Given the description of an element on the screen output the (x, y) to click on. 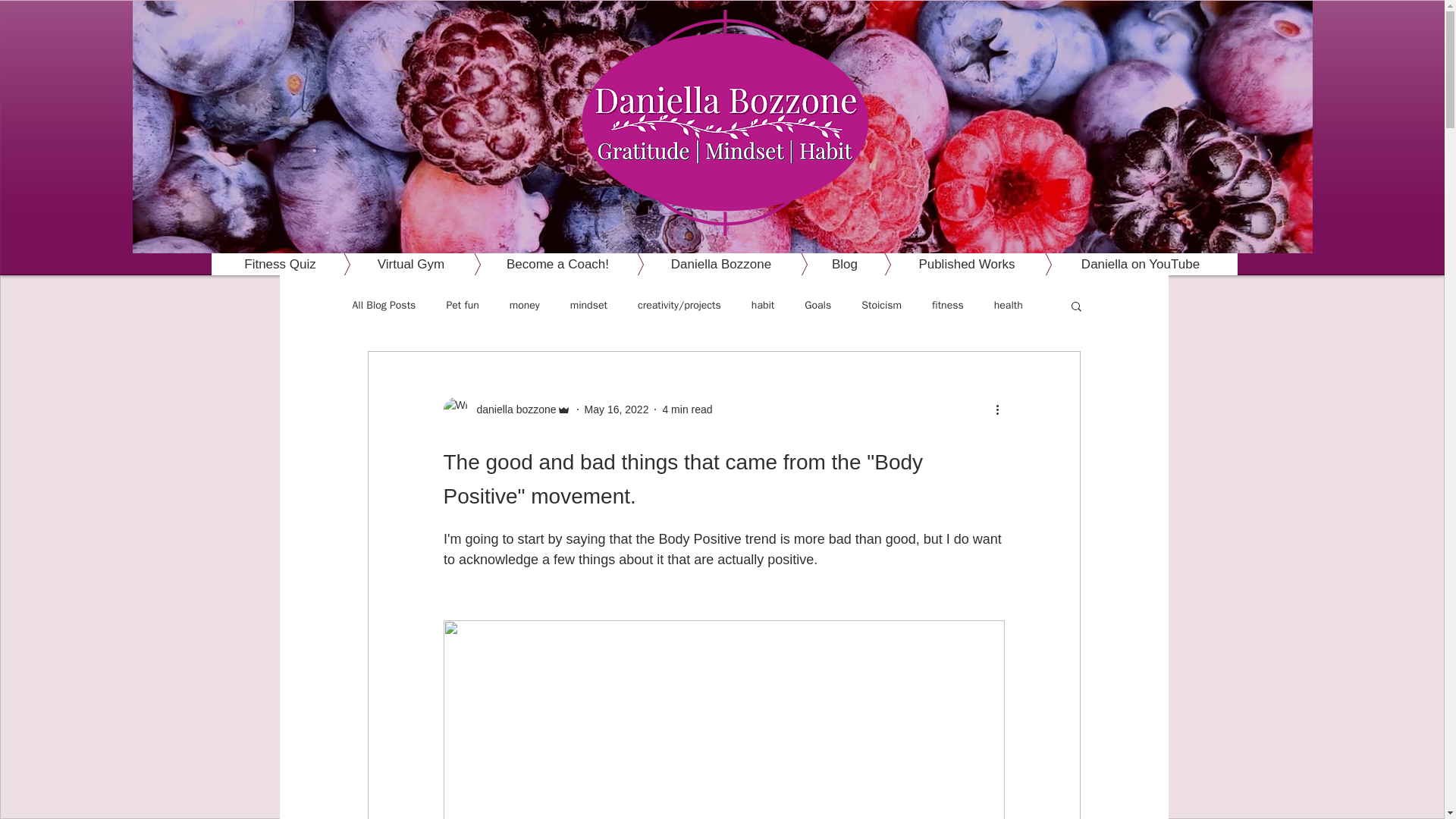
money (524, 305)
Daniella on YouTube (1116, 264)
Become a Coach! (535, 264)
4 min read (686, 409)
daniella bozzone (506, 409)
habit (762, 305)
All Blog Posts (383, 305)
health (1008, 305)
Fitness Quiz (280, 264)
Virtual Gym (388, 264)
Daniella Bozzone (697, 264)
Goals (818, 305)
daniella bozzone (511, 409)
Stoicism (881, 305)
Published Works (943, 264)
